Given the description of an element on the screen output the (x, y) to click on. 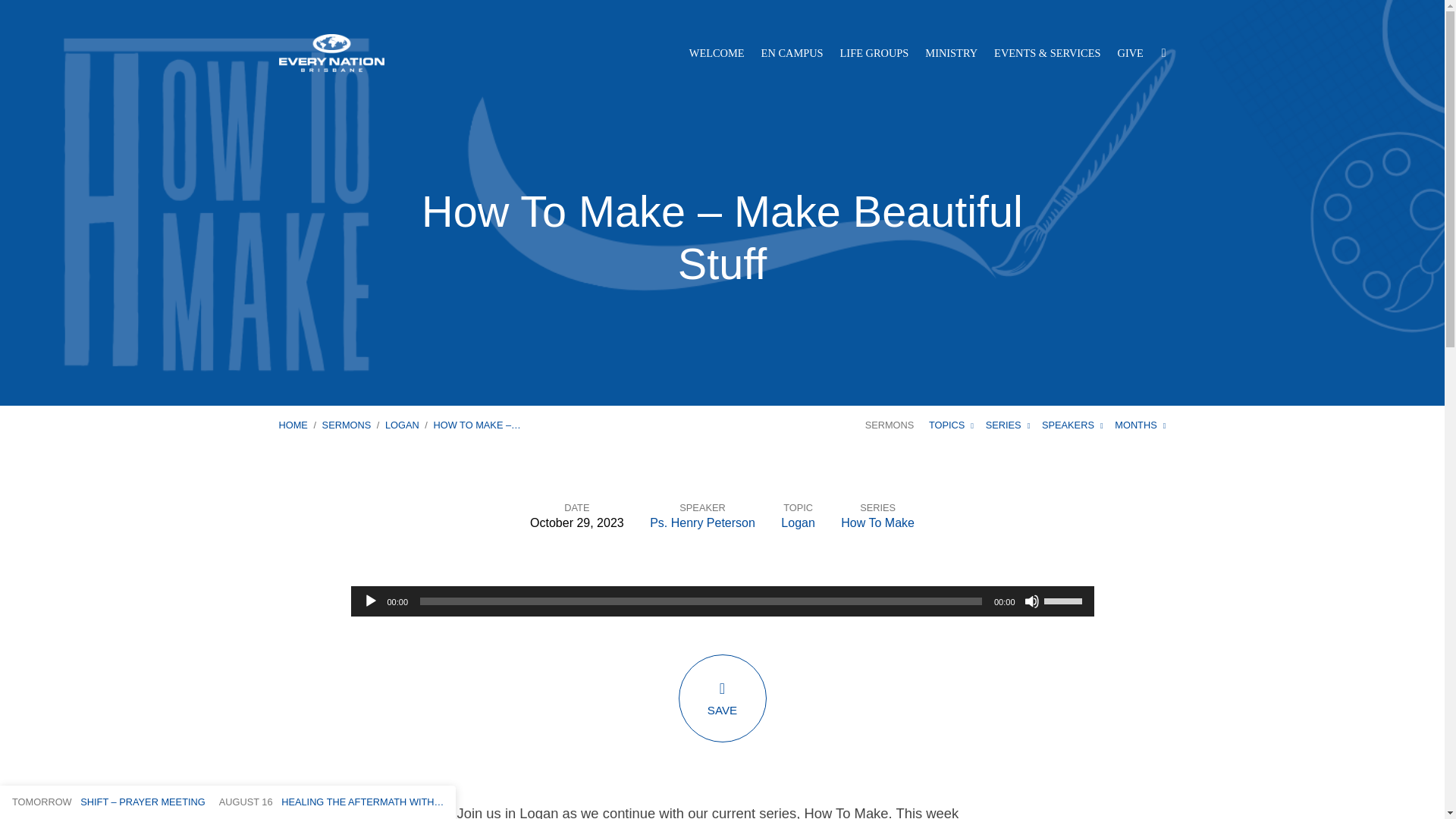
SERMONS (346, 424)
HOME (293, 424)
Play (369, 601)
Mute (1031, 601)
SERMONS (889, 424)
EN CAMPUS (792, 52)
GIVE (1129, 52)
LIFE GROUPS (874, 52)
LOGAN (402, 424)
TOPICS (951, 424)
